Given the description of an element on the screen output the (x, y) to click on. 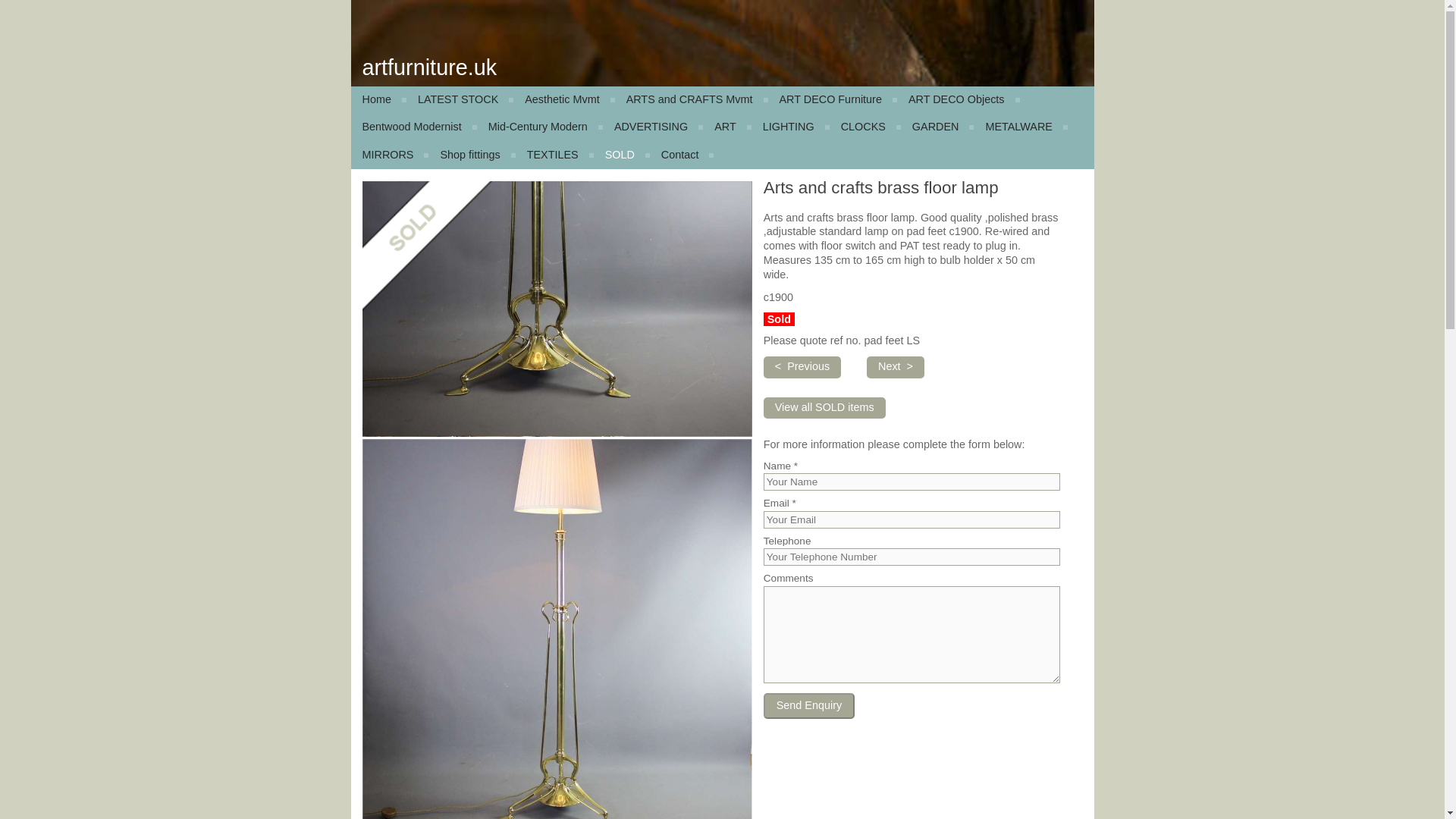
MIRRORS (389, 154)
Home (378, 99)
CLOCKS (865, 126)
Contact (681, 154)
ART (727, 126)
SOLD (621, 154)
METALWARE (1020, 126)
Aesthetic Mvmt (563, 99)
Send Enquiry (808, 705)
View all SOLD items (823, 407)
Shop fittings (471, 154)
GARDEN (937, 126)
LIGHTING (790, 126)
LATEST STOCK (459, 99)
ART DECO Furniture (831, 99)
